Given the description of an element on the screen output the (x, y) to click on. 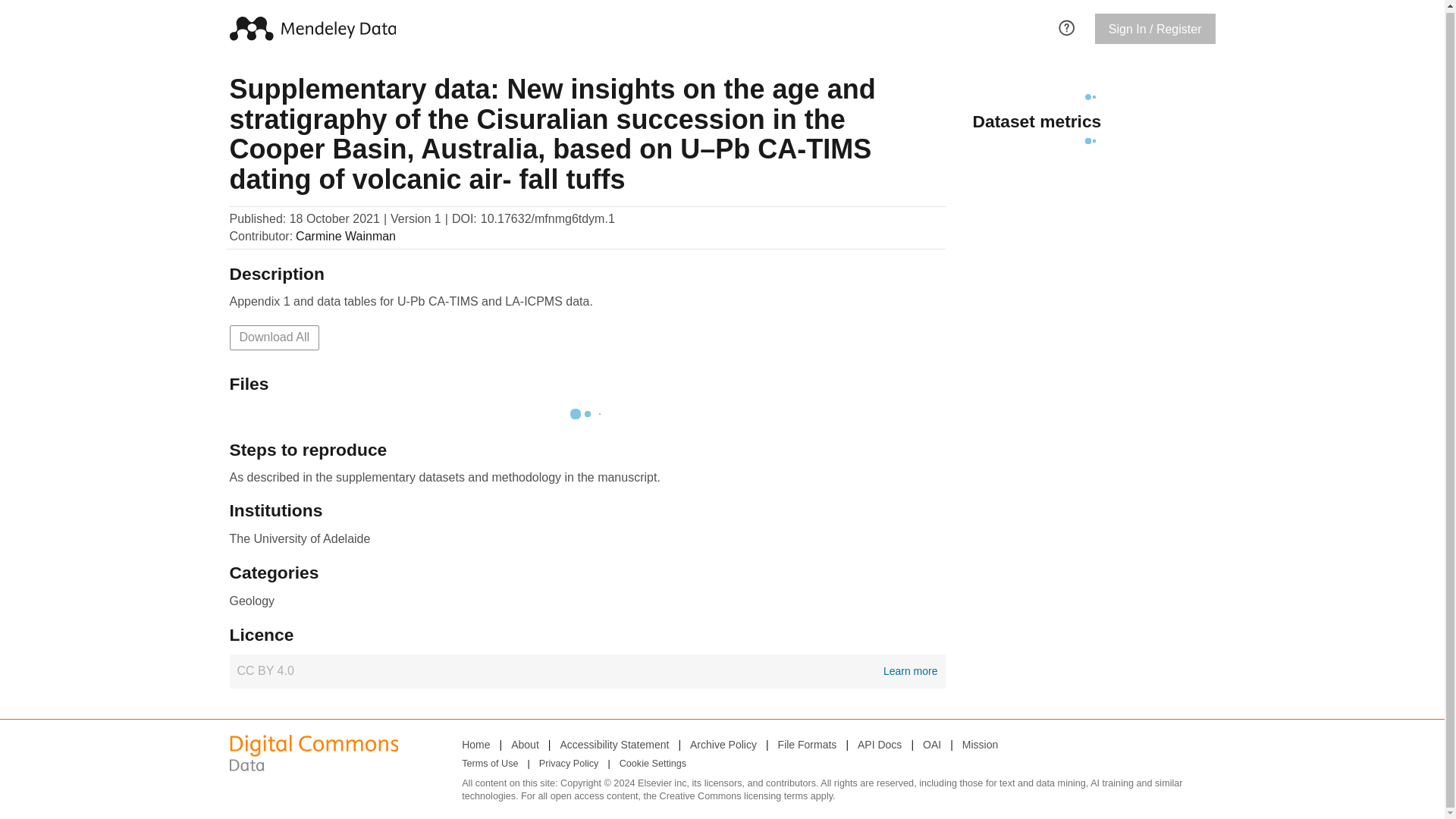
Terms of Use (489, 763)
Cookie Settings (652, 763)
FAQ (586, 670)
Archive Policy (1066, 26)
File Formats (723, 744)
Download All (807, 744)
API Docs (273, 337)
About (879, 744)
OAI (524, 744)
